Given the description of an element on the screen output the (x, y) to click on. 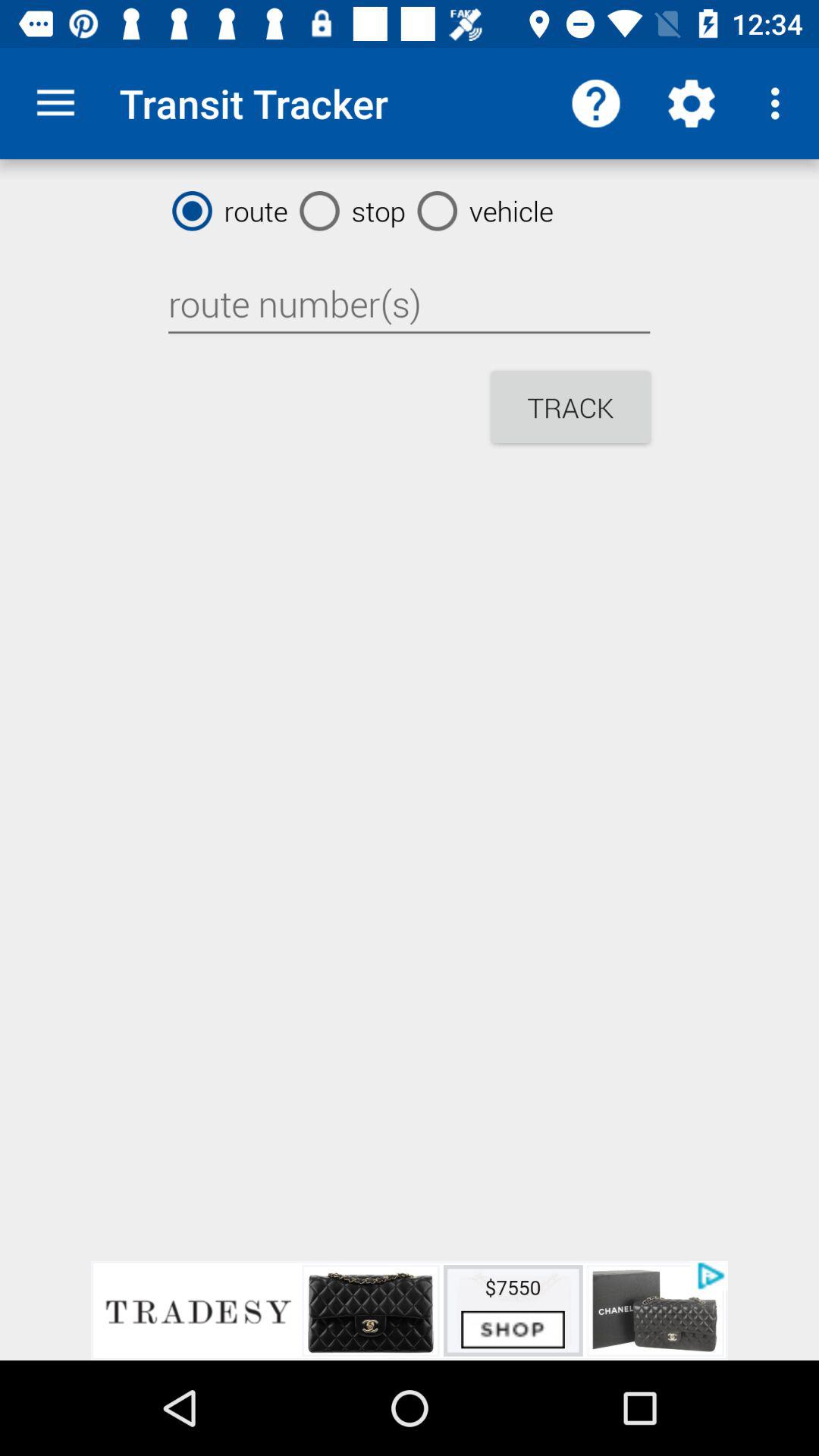
enter the route numbers (409, 304)
